Given the description of an element on the screen output the (x, y) to click on. 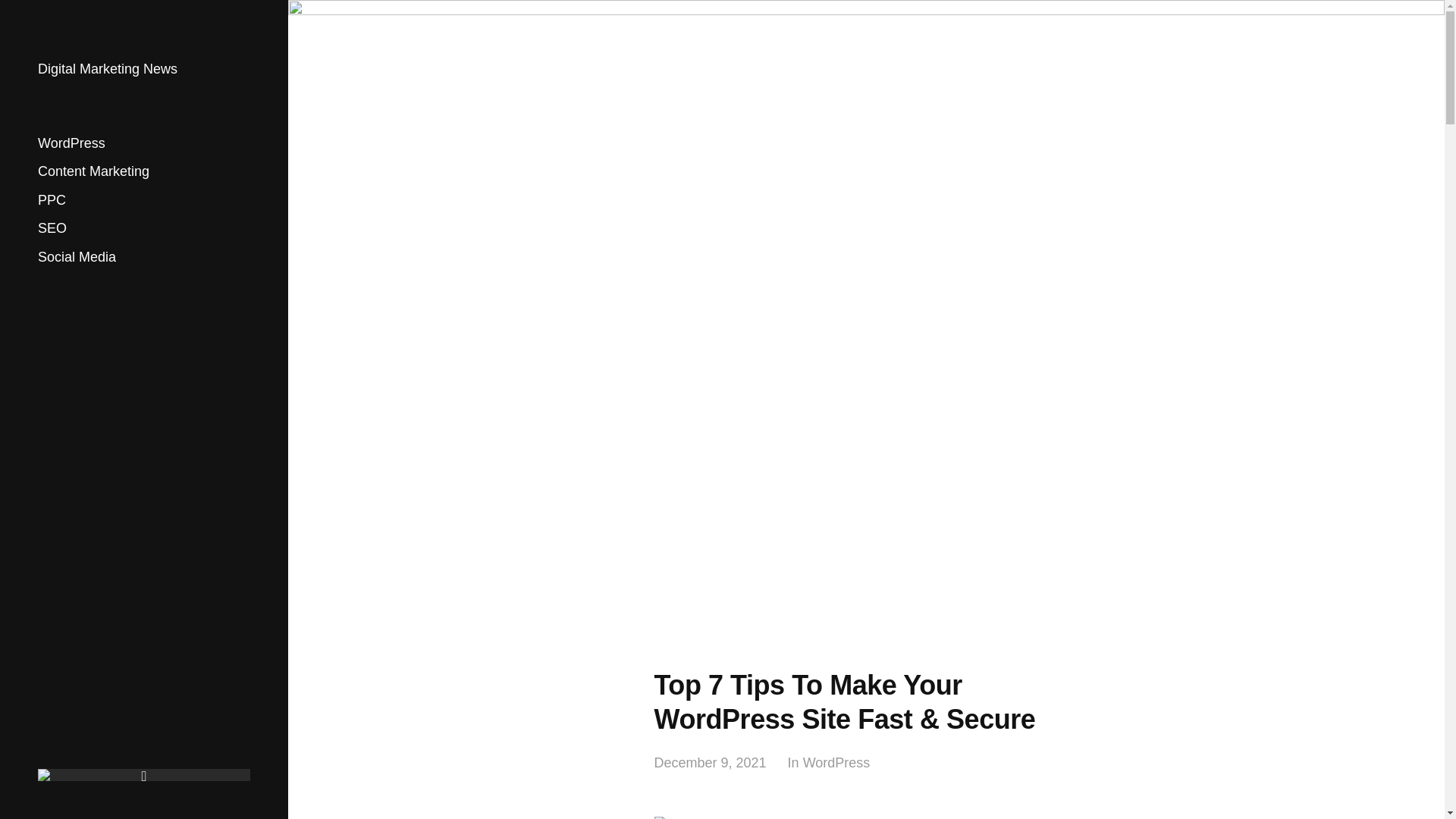
Social Media (76, 256)
December 9, 2021 (709, 763)
WordPress (836, 763)
WordPress (70, 142)
PPC (51, 200)
SEO (51, 228)
Digital Marketing News (107, 68)
Content Marketing (93, 171)
